Given the description of an element on the screen output the (x, y) to click on. 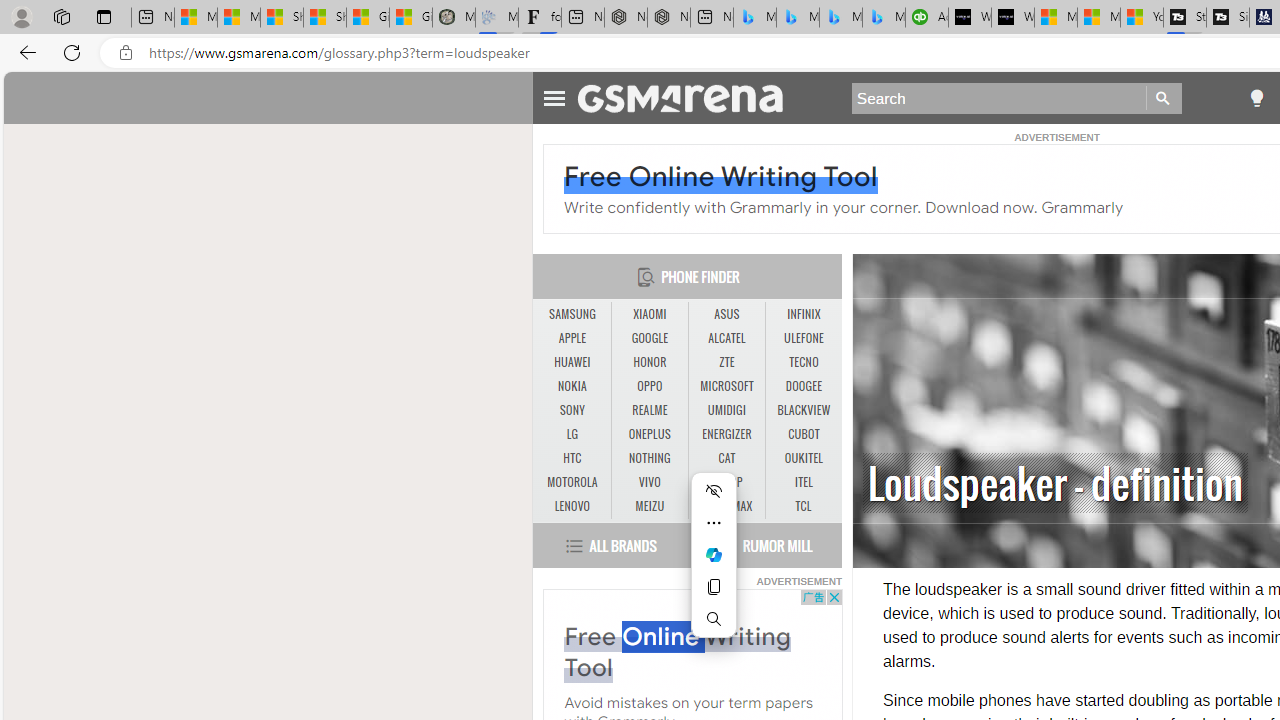
TECNO (803, 362)
Toggle Navigation (553, 95)
SAMSUNG (571, 314)
HTC (571, 457)
What's the best AI voice generator? - voice.ai (1013, 17)
Streaming Coverage | T3 (1184, 17)
REALME (649, 410)
SHARP (726, 482)
UMIDIGI (726, 410)
Ask Copilot (714, 554)
Microsoft Bing Travel - Shangri-La Hotel Bangkok (883, 17)
